Given the description of an element on the screen output the (x, y) to click on. 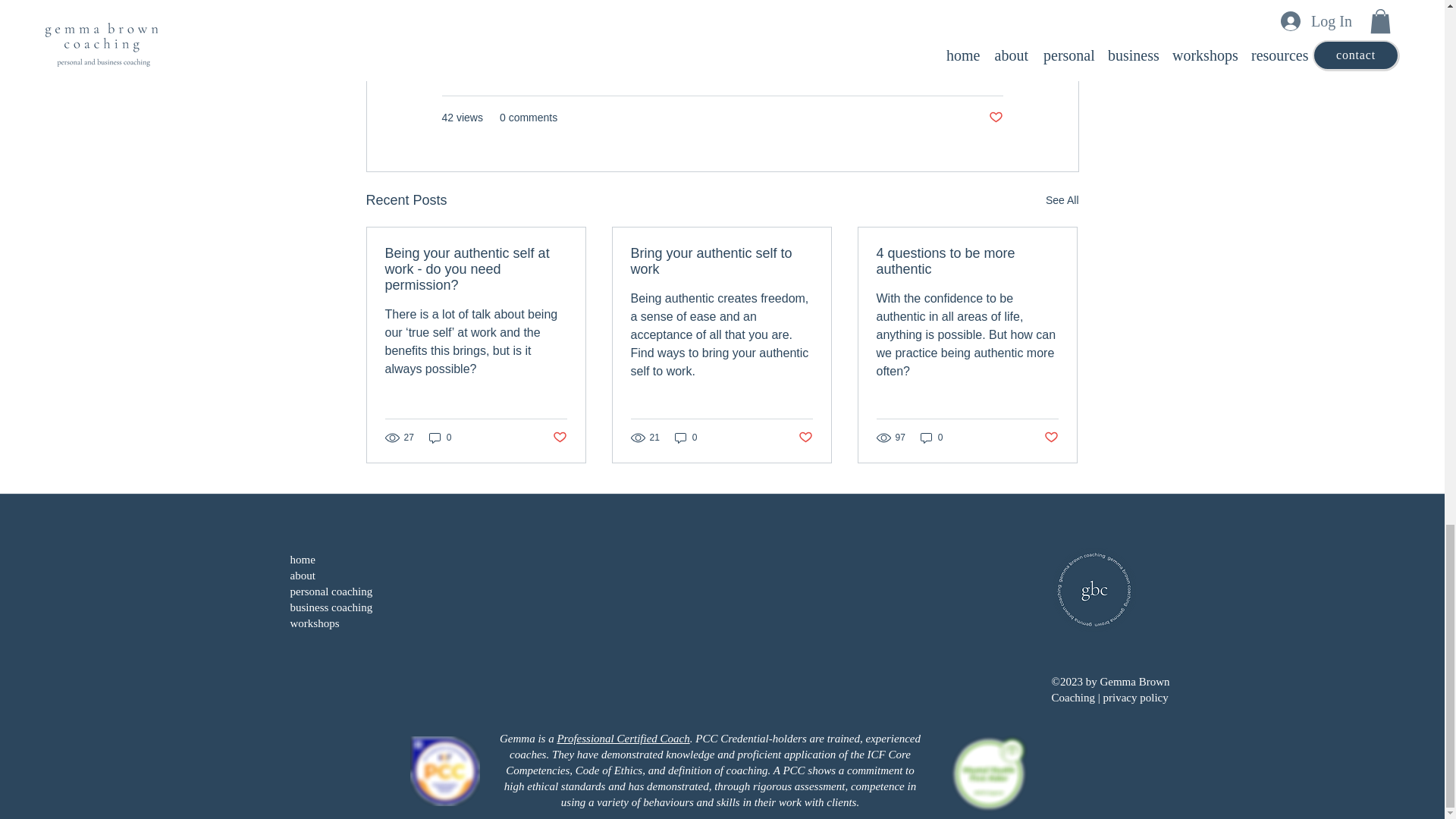
authenticity (579, 15)
career (647, 15)
career coaching (489, 15)
leadership (713, 15)
